Given the description of an element on the screen output the (x, y) to click on. 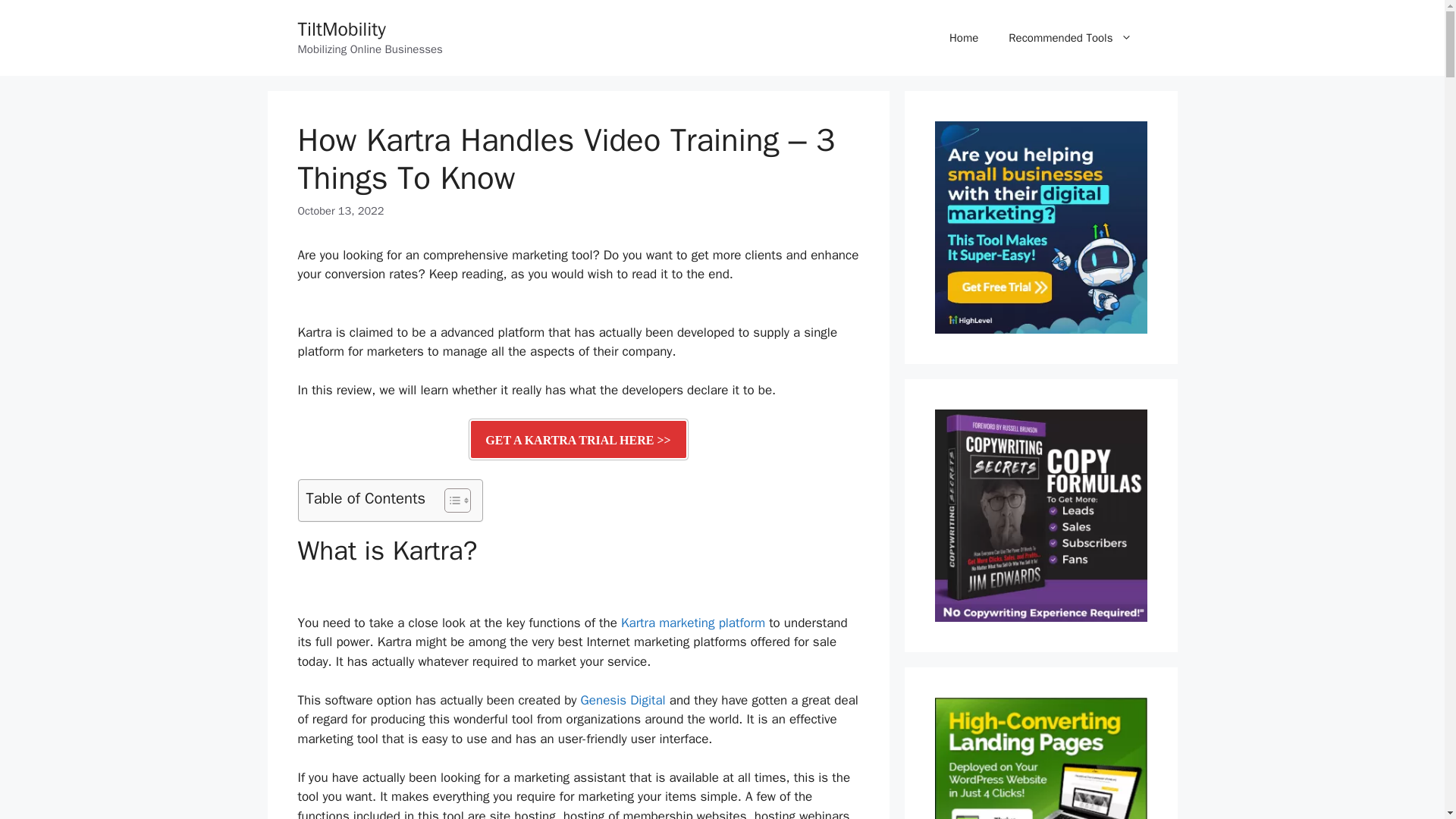
Recommended Tools (1069, 37)
Kartra marketing platform (693, 622)
TiltMobility (341, 28)
Genesis Digital (622, 700)
Home (963, 37)
